Given the description of an element on the screen output the (x, y) to click on. 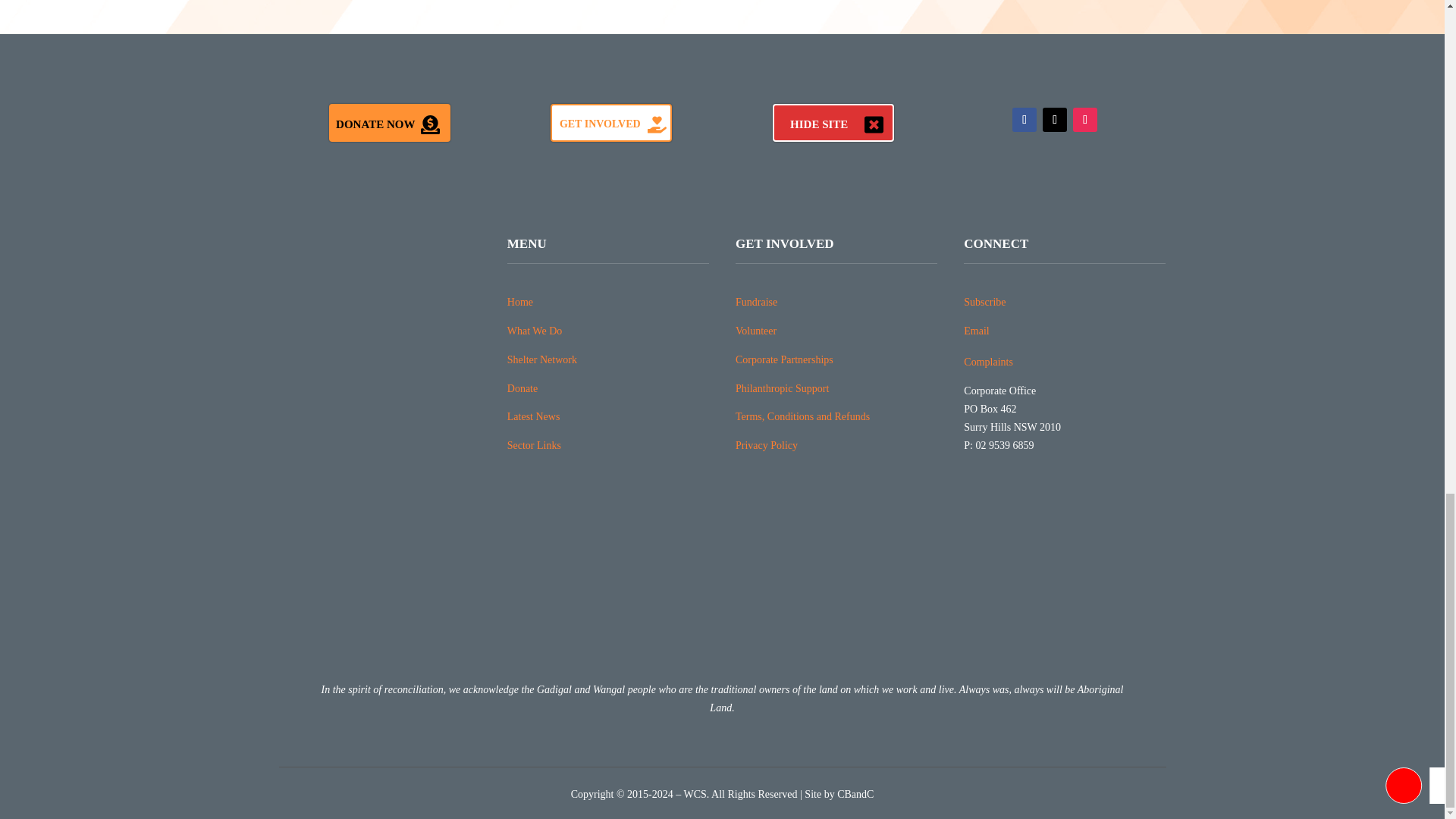
Donate Today (521, 388)
Subscribe (984, 301)
What Do We Do? (534, 330)
Volunteer for WCS (755, 330)
Corporate Partnerships with WCS (783, 359)
Home page (519, 301)
Follow on X (1054, 119)
Philanthropic Support for WCS (781, 388)
Fundraise for WCS (756, 301)
Follow on Facebook (1023, 119)
Follow on Instagram (1085, 119)
